Given the description of an element on the screen output the (x, y) to click on. 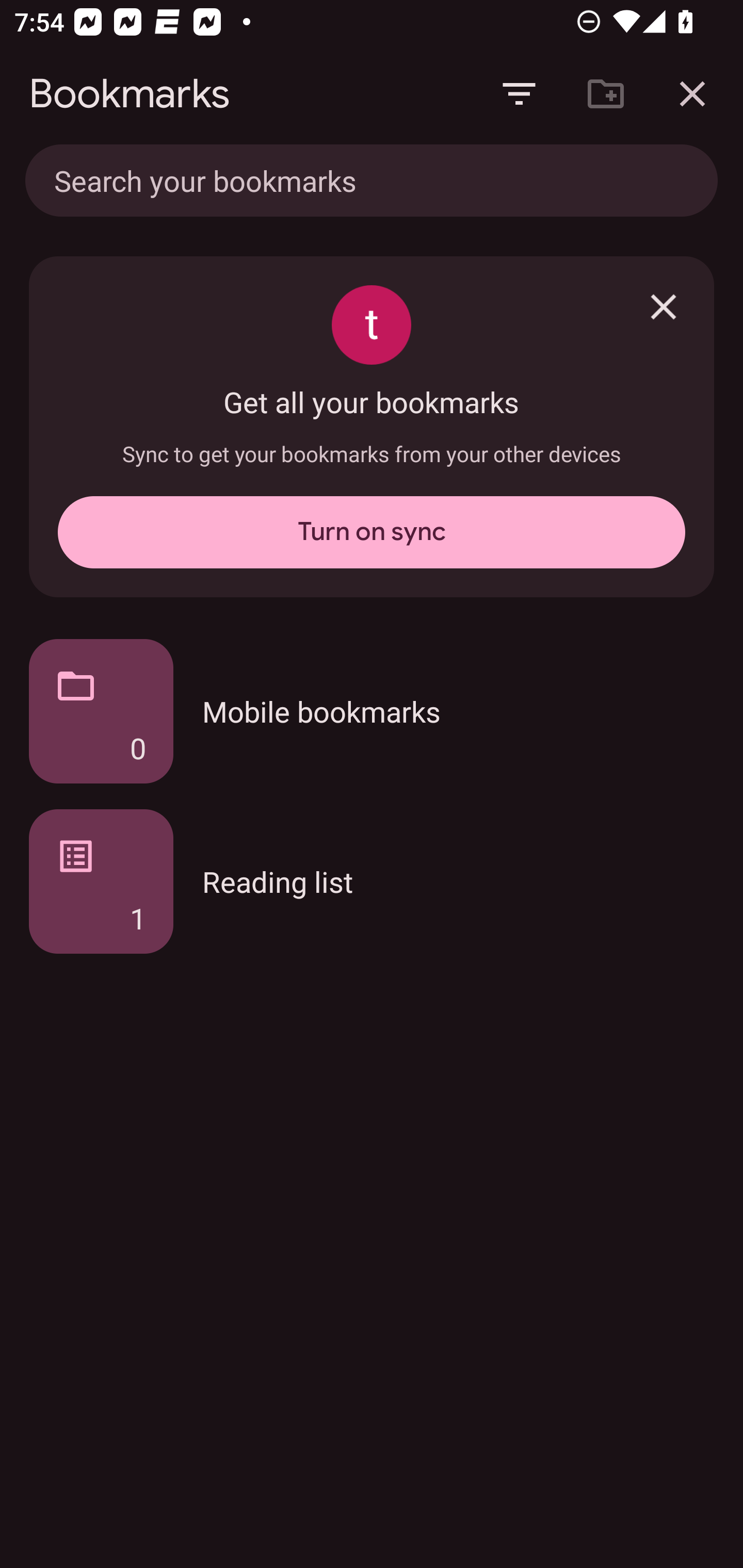
Sort and view options (518, 93)
Create new folder (605, 93)
Close dialog (692, 93)
Search your bookmarks (327, 180)
Close (663, 306)
Turn on sync (371, 532)
Mobile bookmarks No bookmarks 0 Mobile bookmarks (371, 710)
Reading list 1 unread page 1 Reading list (371, 880)
